Given the description of an element on the screen output the (x, y) to click on. 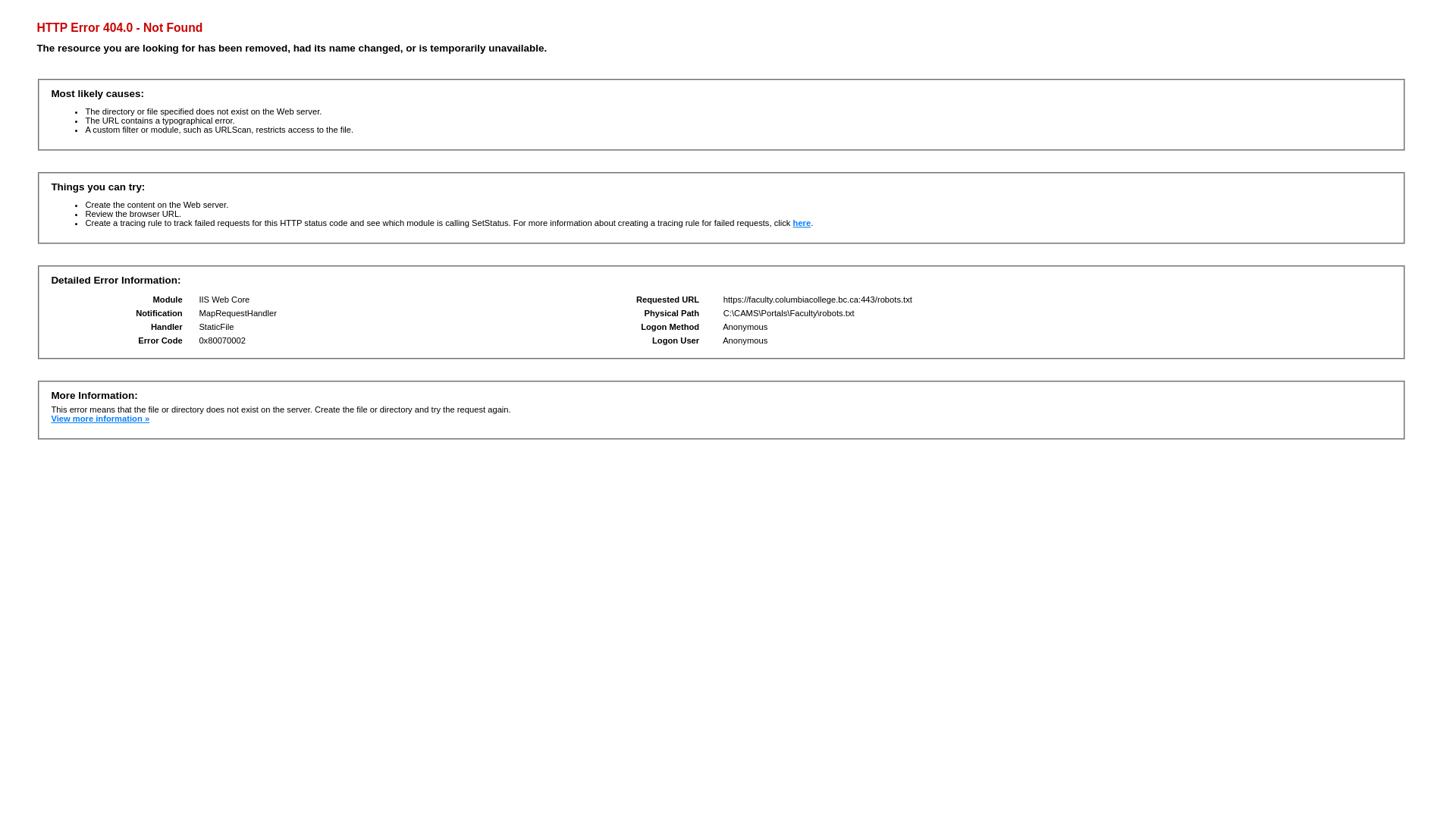
here Element type: text (802, 222)
